Given the description of an element on the screen output the (x, y) to click on. 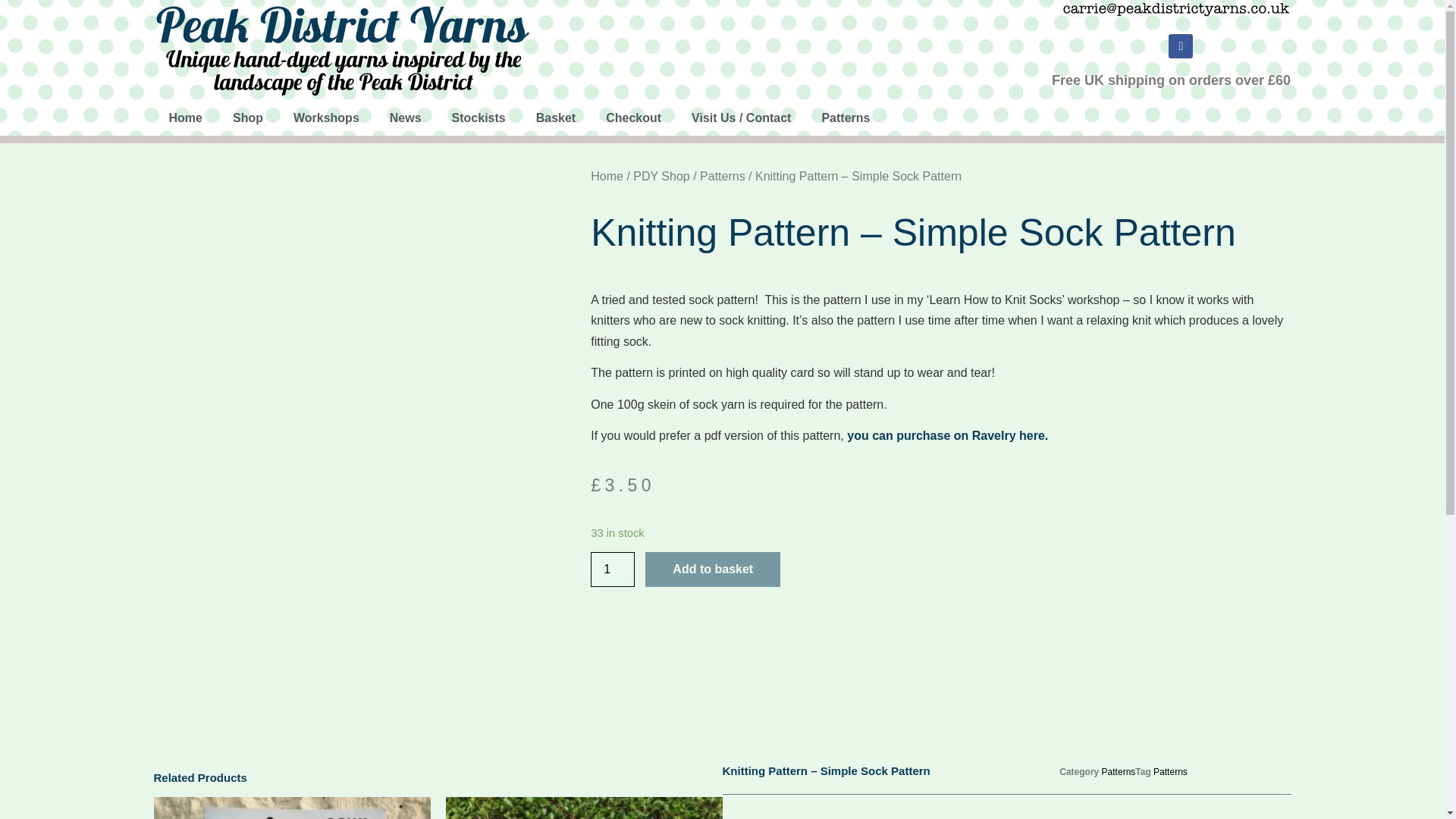
Workshops (326, 117)
Patterns (845, 117)
Home (607, 175)
Basket (556, 117)
News (405, 117)
Home (184, 117)
Shop (247, 117)
Stockists (478, 117)
Checkout (634, 117)
1 (612, 569)
